Given the description of an element on the screen output the (x, y) to click on. 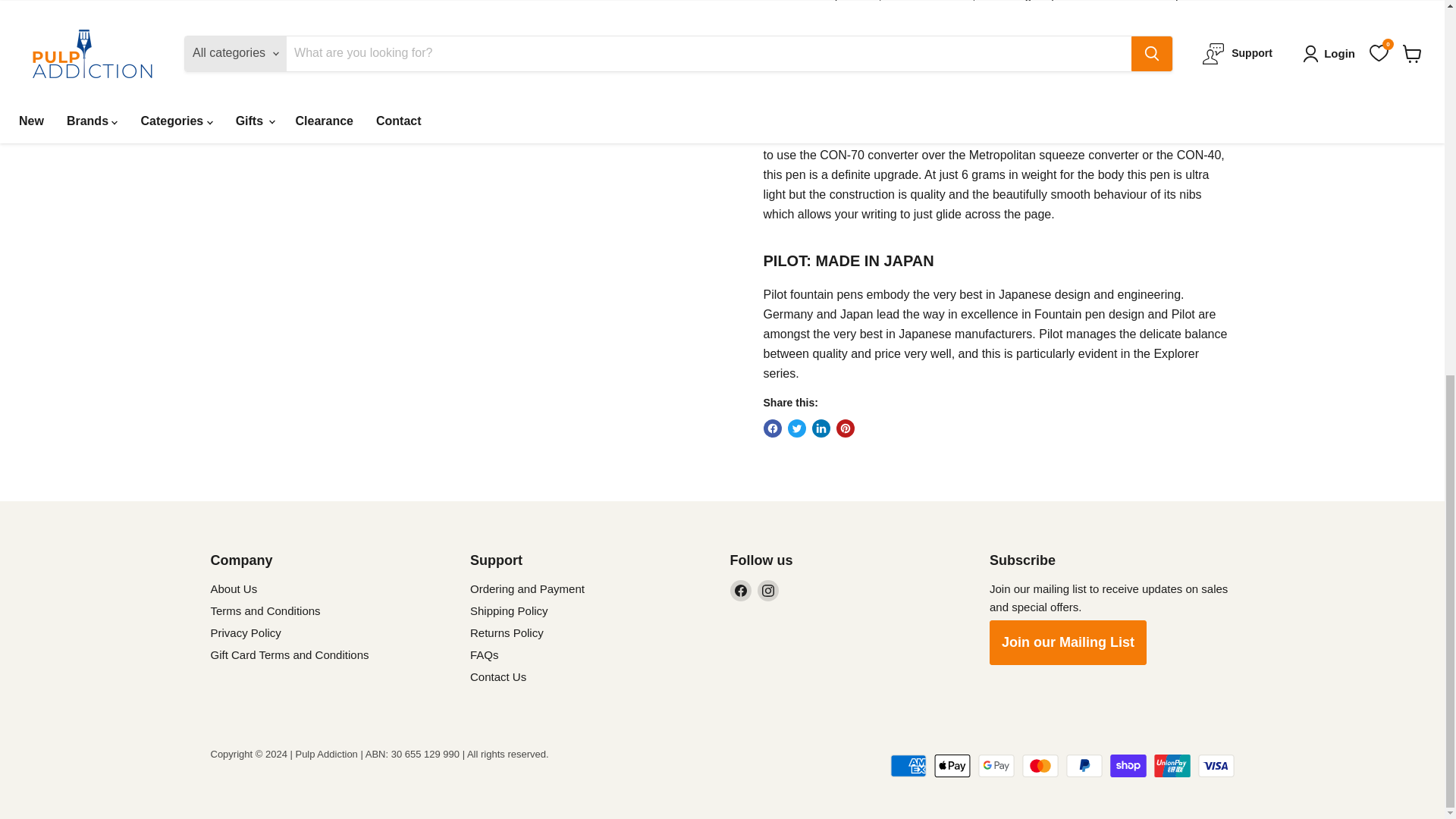
American Express (907, 765)
Instagram (767, 590)
Facebook (740, 590)
